Given the description of an element on the screen output the (x, y) to click on. 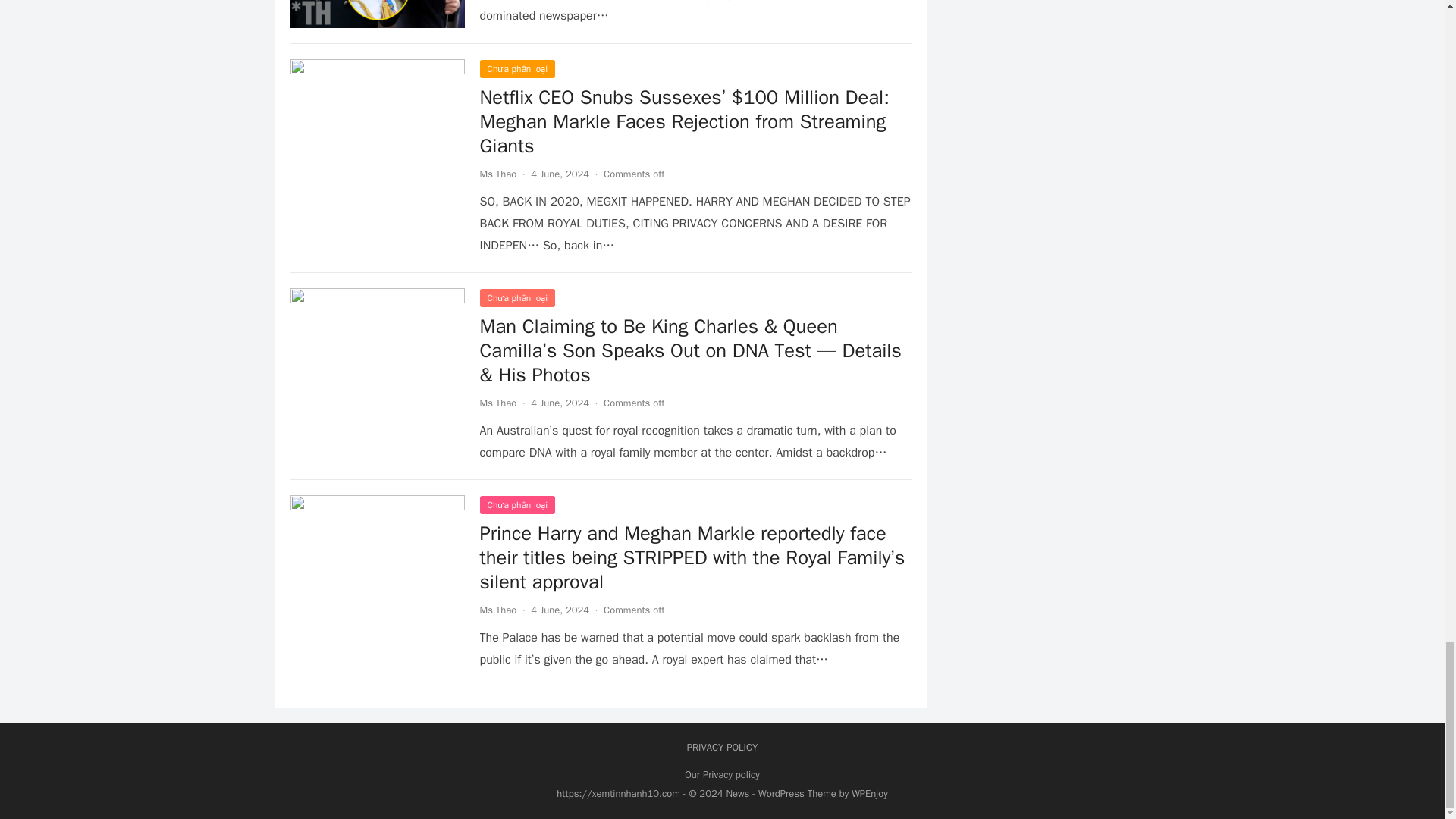
Posts by Ms Thao (497, 609)
Posts by Ms Thao (497, 173)
Posts by Ms Thao (497, 402)
